Given the description of an element on the screen output the (x, y) to click on. 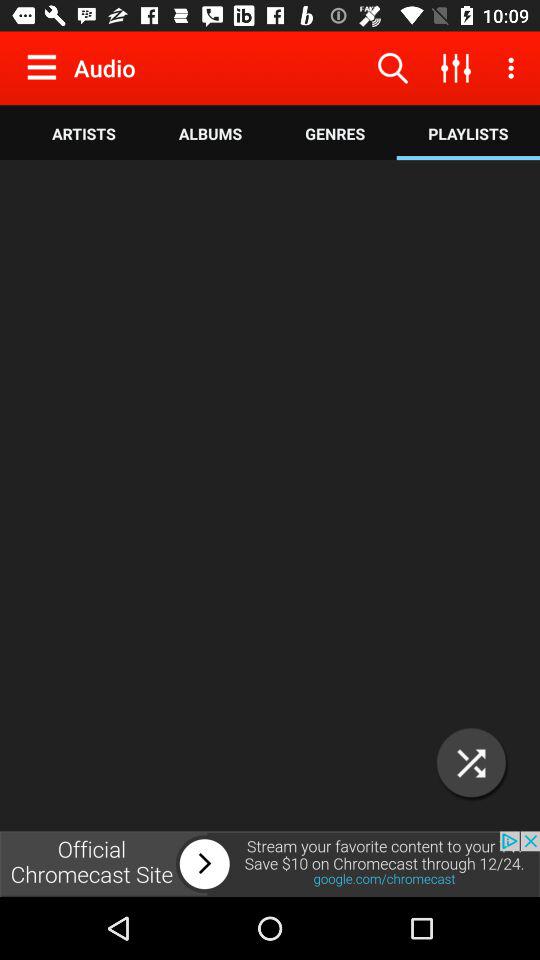
advertisement (270, 496)
